Given the description of an element on the screen output the (x, y) to click on. 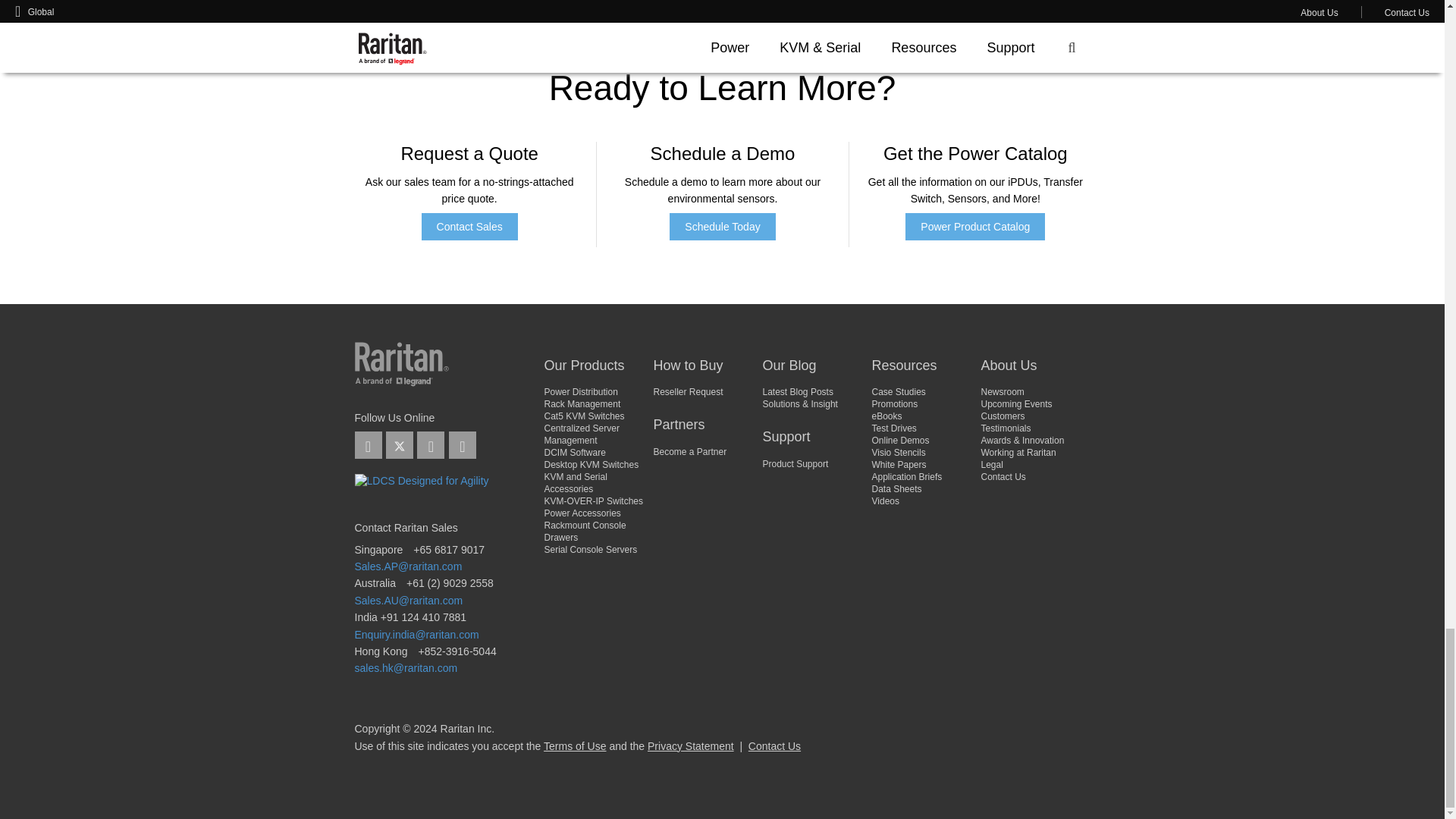
Visit us on Youtube (430, 444)
Visit us on LinkedIn (368, 444)
Go to Raritan homepage (401, 382)
Visit and follow us on Facebook (462, 444)
Visit us on Twitter (399, 444)
